Given the description of an element on the screen output the (x, y) to click on. 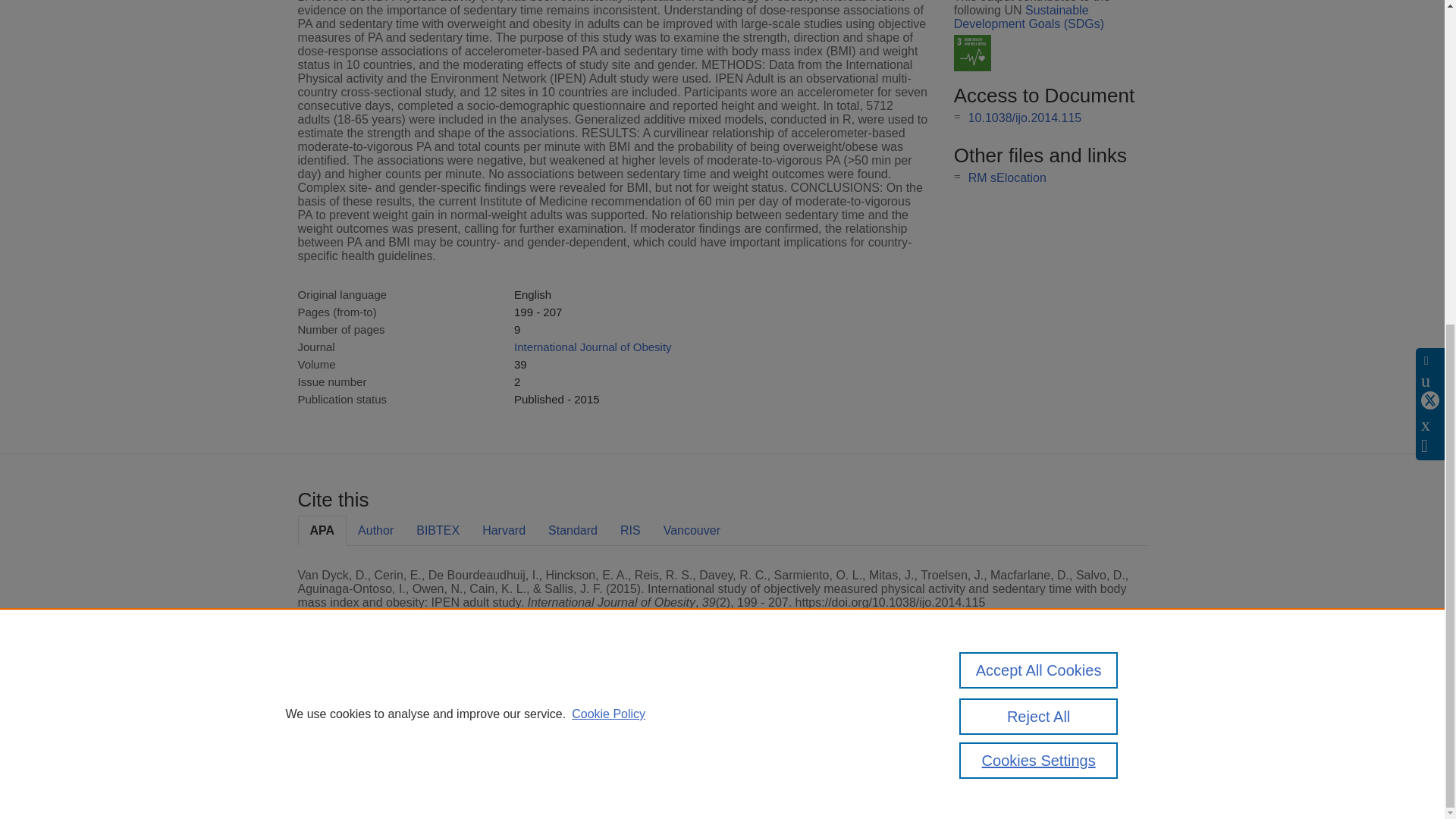
Scopus (394, 708)
RM sElocation (1007, 177)
Monash University data protection policy (1009, 713)
About web accessibility (1008, 740)
Elsevier B.V. (506, 728)
SDG 3 - Good Health and Well-being (972, 53)
Contact us (1123, 713)
Cookies Settings (334, 781)
use of cookies (796, 760)
Cookie Policy (608, 182)
